Given the description of an element on the screen output the (x, y) to click on. 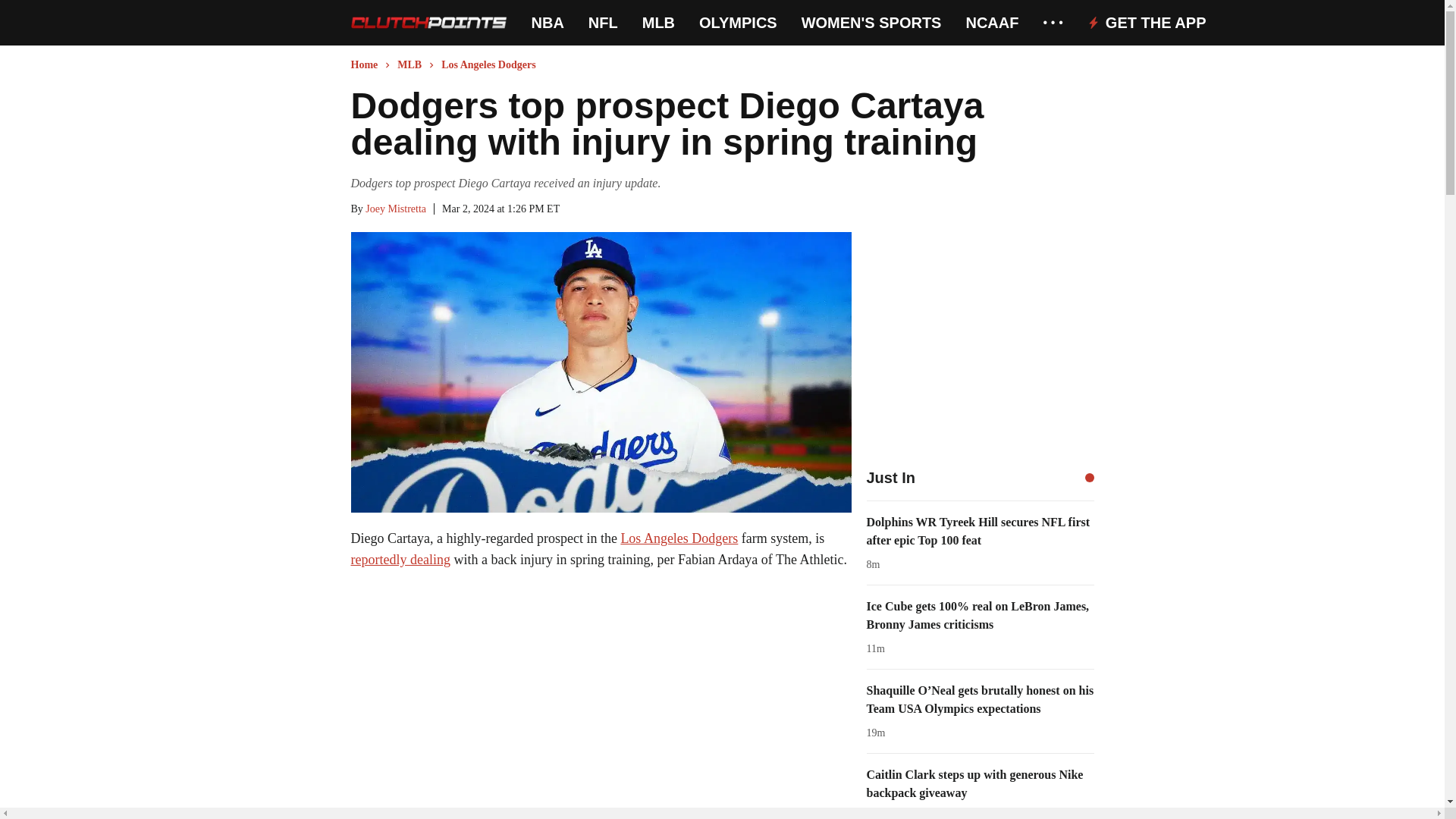
NFL (602, 22)
NBA (547, 22)
MLB (658, 22)
NFL (602, 22)
NBA (547, 22)
